Given the description of an element on the screen output the (x, y) to click on. 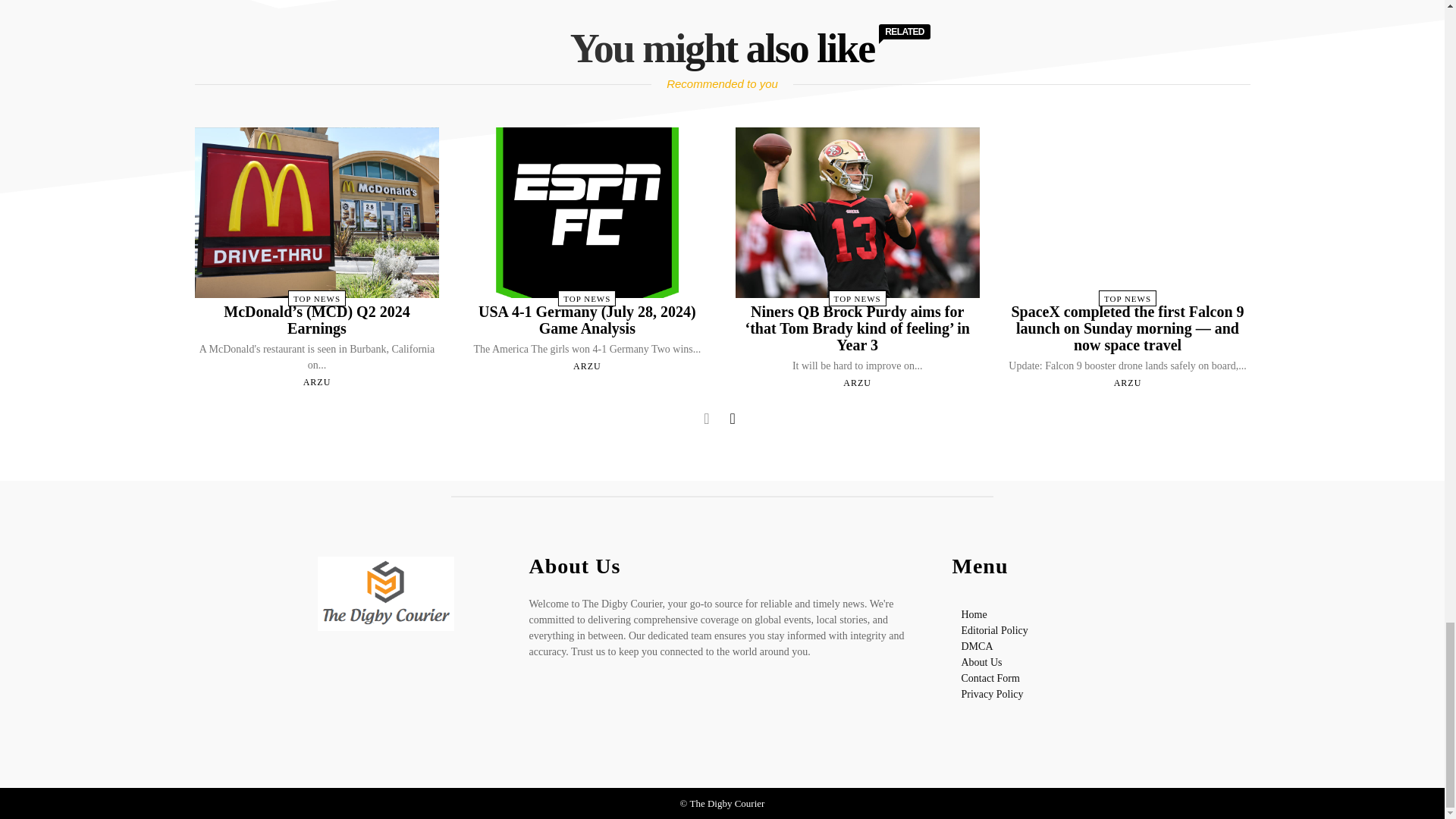
TOP NEWS (586, 298)
TOP NEWS (317, 298)
ARZU (316, 381)
